Given the description of an element on the screen output the (x, y) to click on. 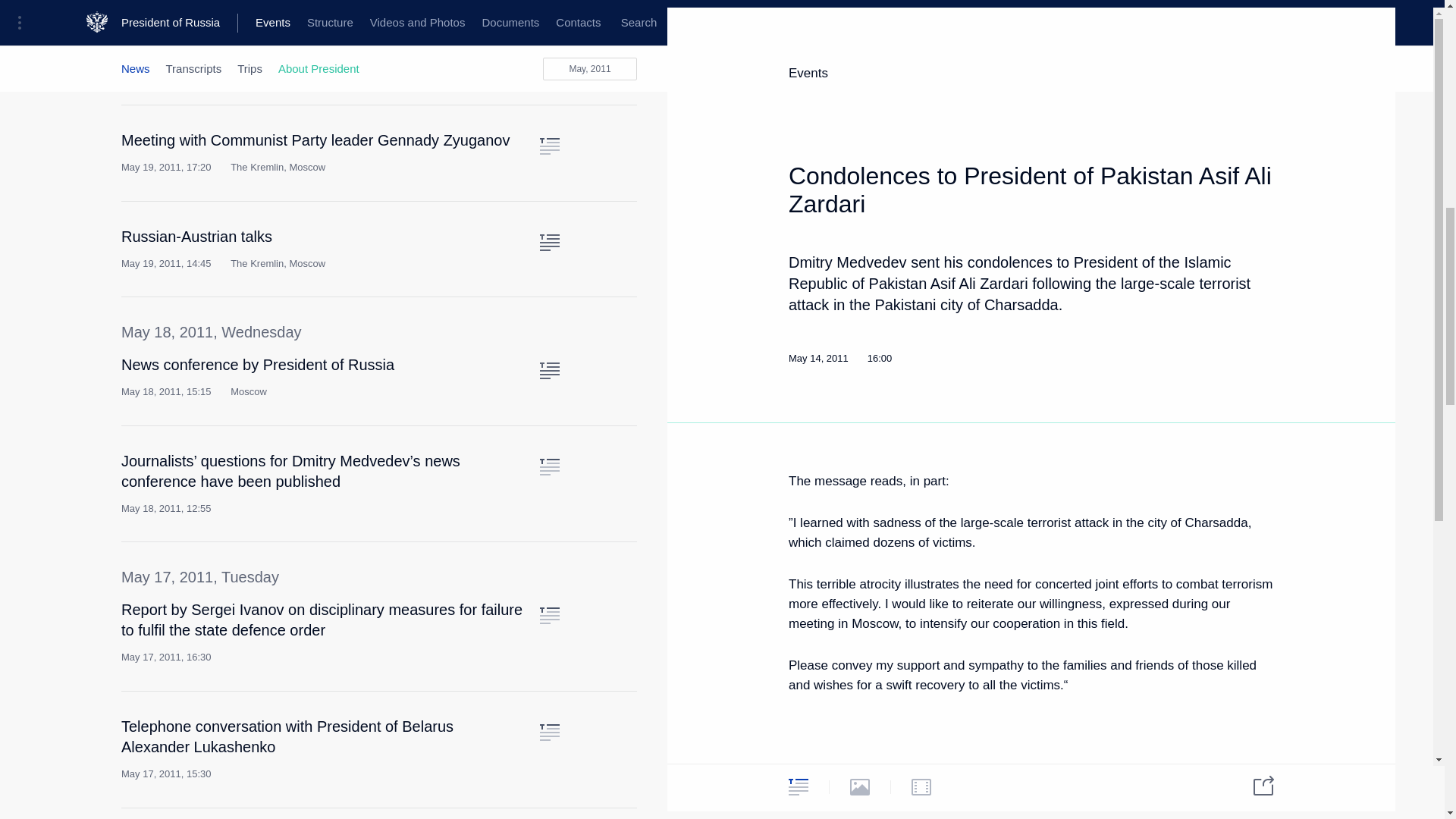
Text of the article (549, 30)
Text of the article (549, 370)
Text of the article (549, 146)
Text of the article (549, 615)
Text of the article (549, 242)
Text of the article (549, 466)
Text of the article (549, 732)
